Given the description of an element on the screen output the (x, y) to click on. 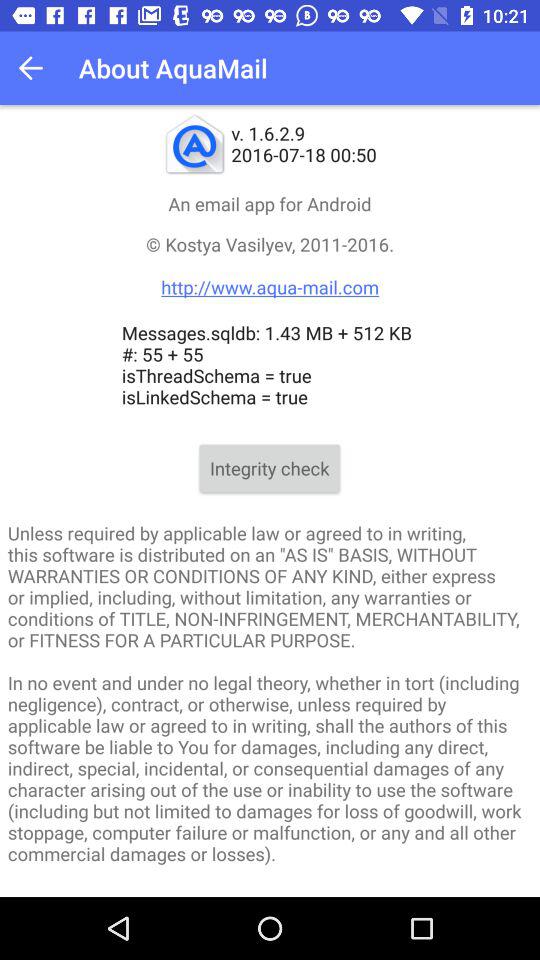
tap the item below unless required by (269, 891)
